Given the description of an element on the screen output the (x, y) to click on. 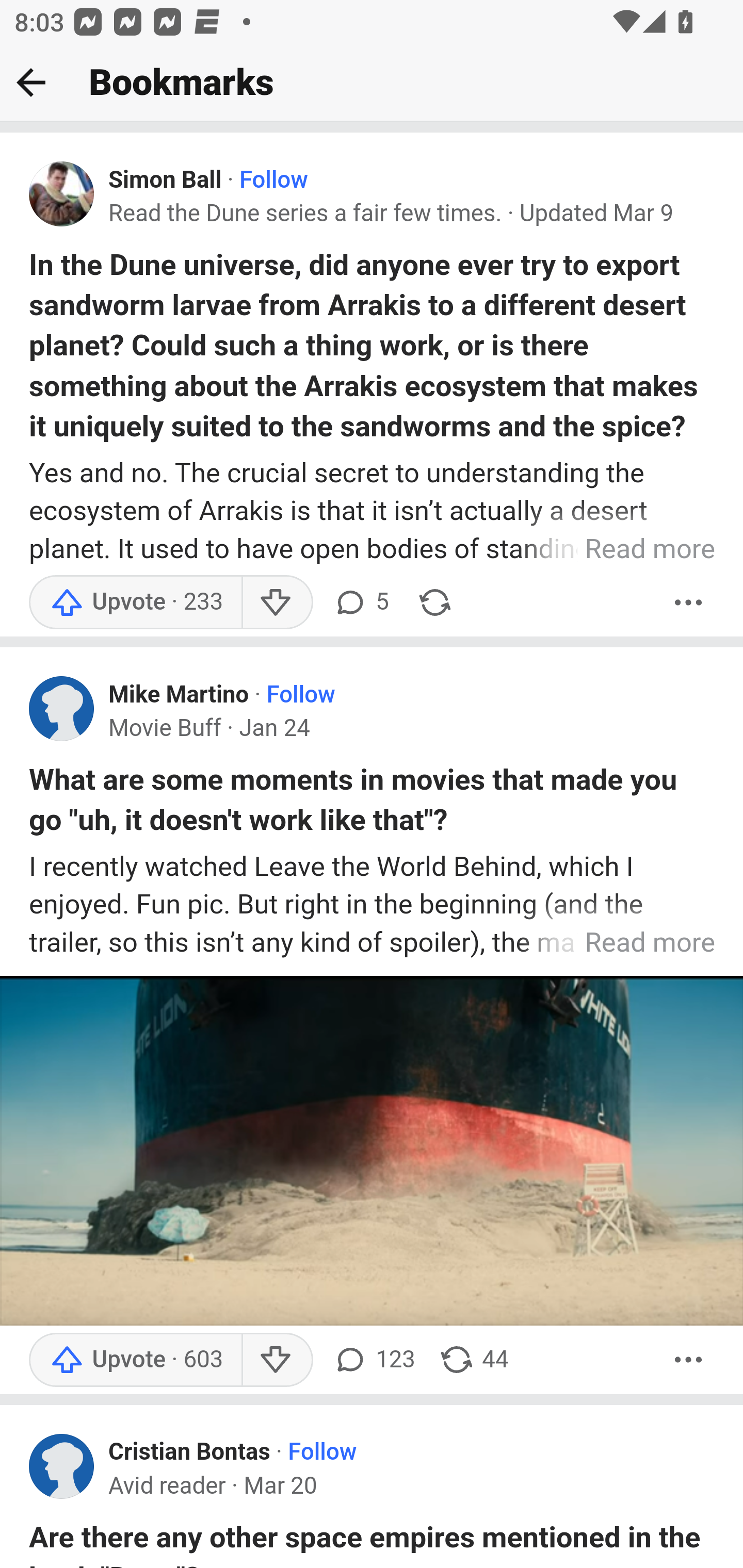
Me Home Search Add (371, 82)
Back (30, 82)
Profile photo for Simon Ball (61, 194)
Simon Ball (165, 180)
Follow (273, 180)
Updated Mar 9 Updated  Mar 9 (596, 213)
Upvote (135, 601)
Downvote (277, 601)
5 comments (360, 601)
Share (434, 601)
More (688, 601)
Profile photo for Mike Martino (61, 709)
Mike Martino (178, 694)
Follow (300, 694)
Jan 24 (274, 728)
Upvote (135, 1359)
Downvote (277, 1359)
123 comments (373, 1359)
44 shares (473, 1359)
More (688, 1359)
Profile photo for Cristian Bontas (61, 1465)
Cristian Bontas (189, 1453)
Follow (321, 1453)
Mar 20 (280, 1486)
